Given the description of an element on the screen output the (x, y) to click on. 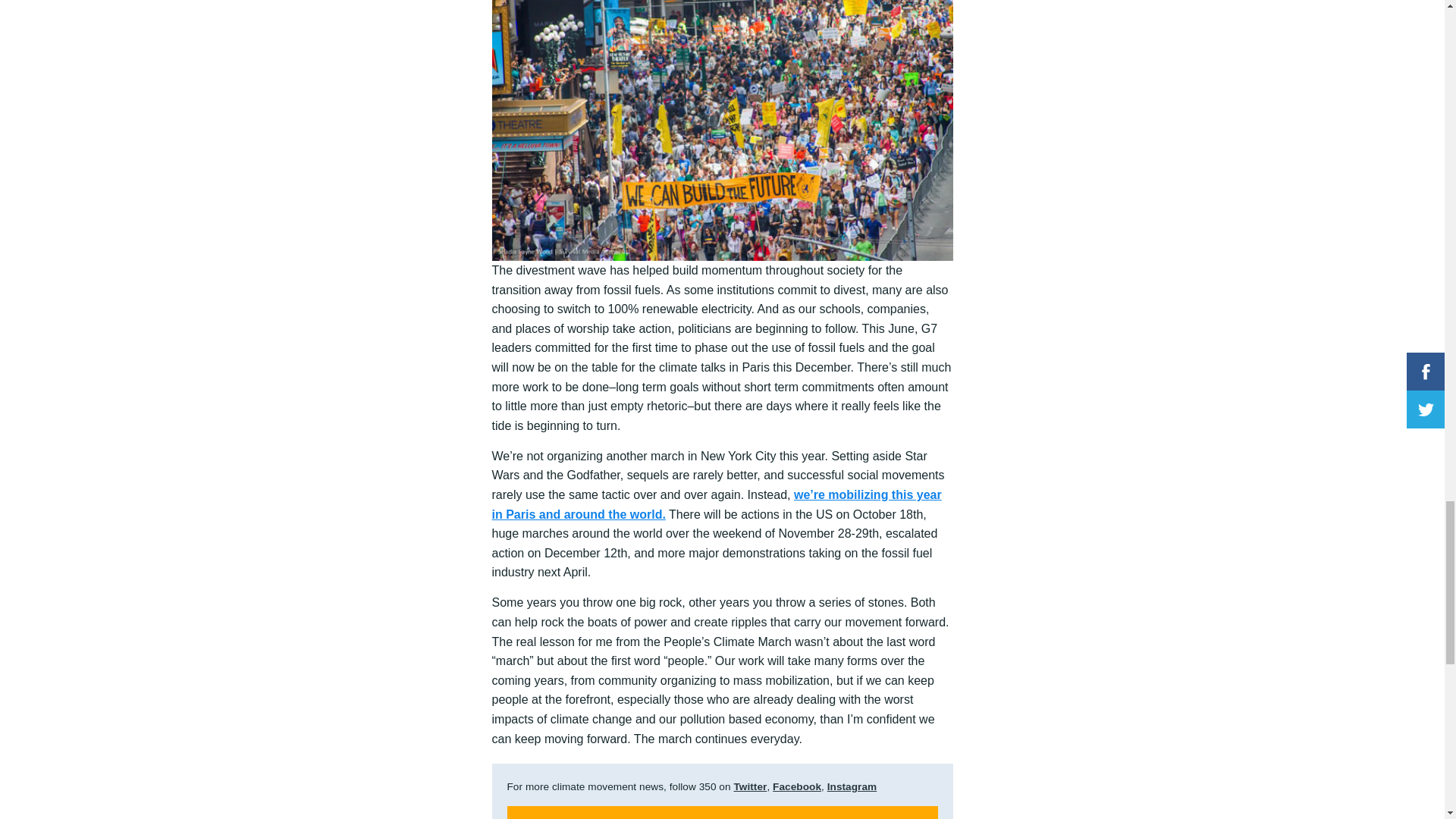
Twitter (750, 786)
Instagram (852, 786)
Facebook (797, 786)
